Given the description of an element on the screen output the (x, y) to click on. 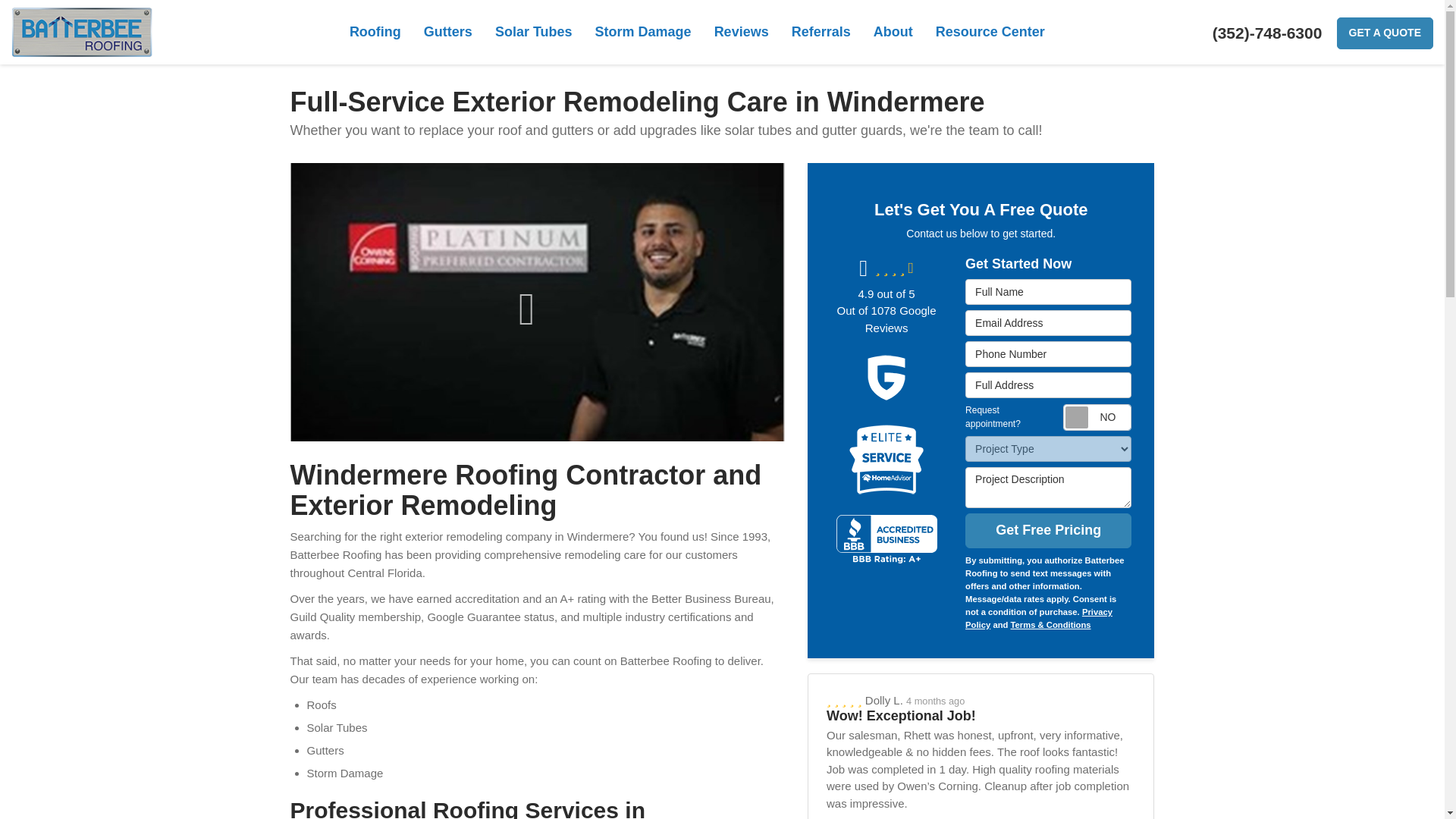
Storm Damage (643, 32)
Solar Tubes (533, 32)
Referrals (820, 32)
About (892, 32)
5 Stars (845, 699)
GET A QUOTE (1384, 33)
Reviews (741, 32)
Roofing (374, 32)
GET A QUOTE (1384, 33)
